Given the description of an element on the screen output the (x, y) to click on. 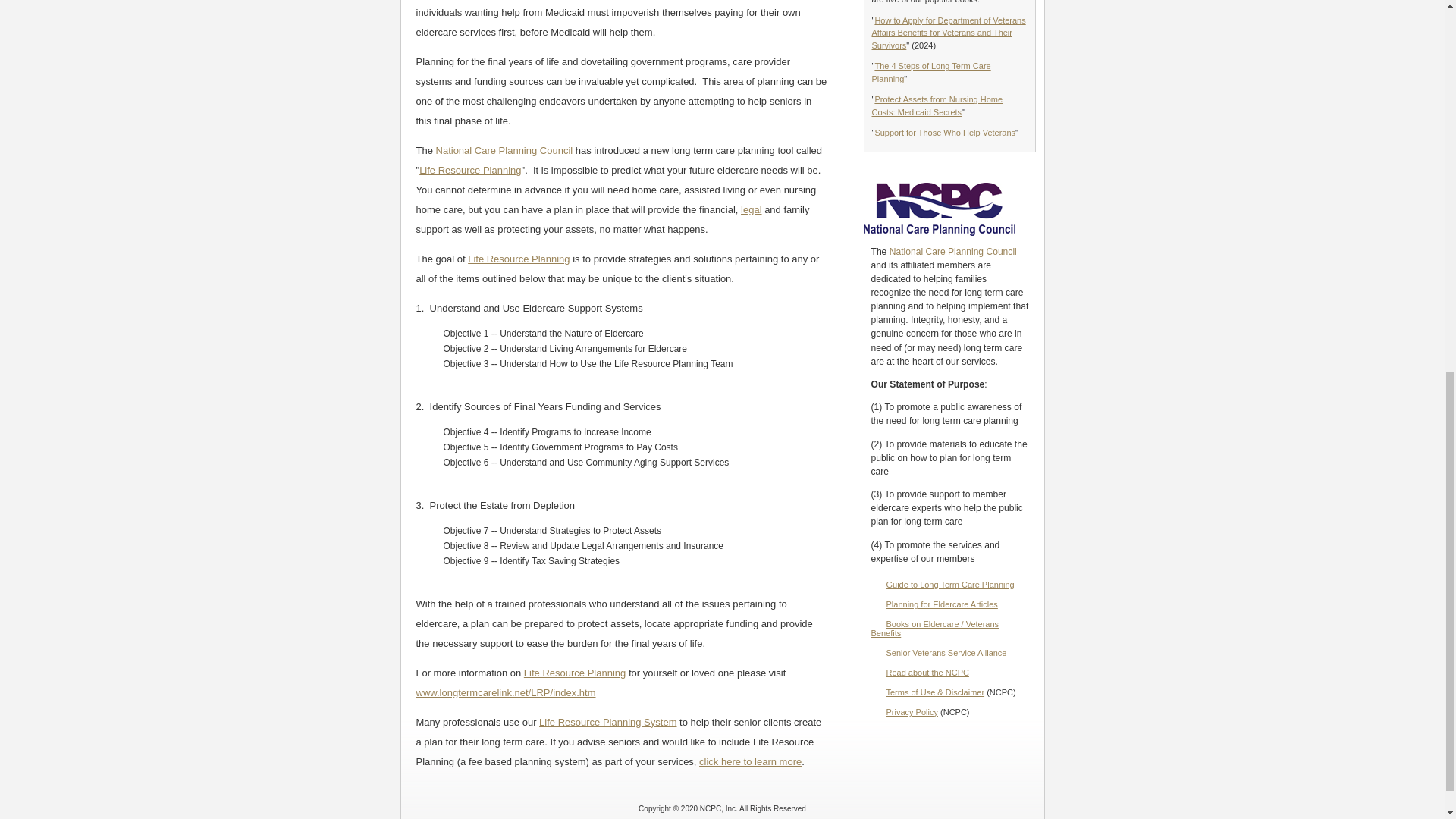
National Care Planning Council (504, 150)
Life Resource Planning (575, 672)
Life Resource Planning (470, 170)
Life Resource Planning (518, 258)
